Given the description of an element on the screen output the (x, y) to click on. 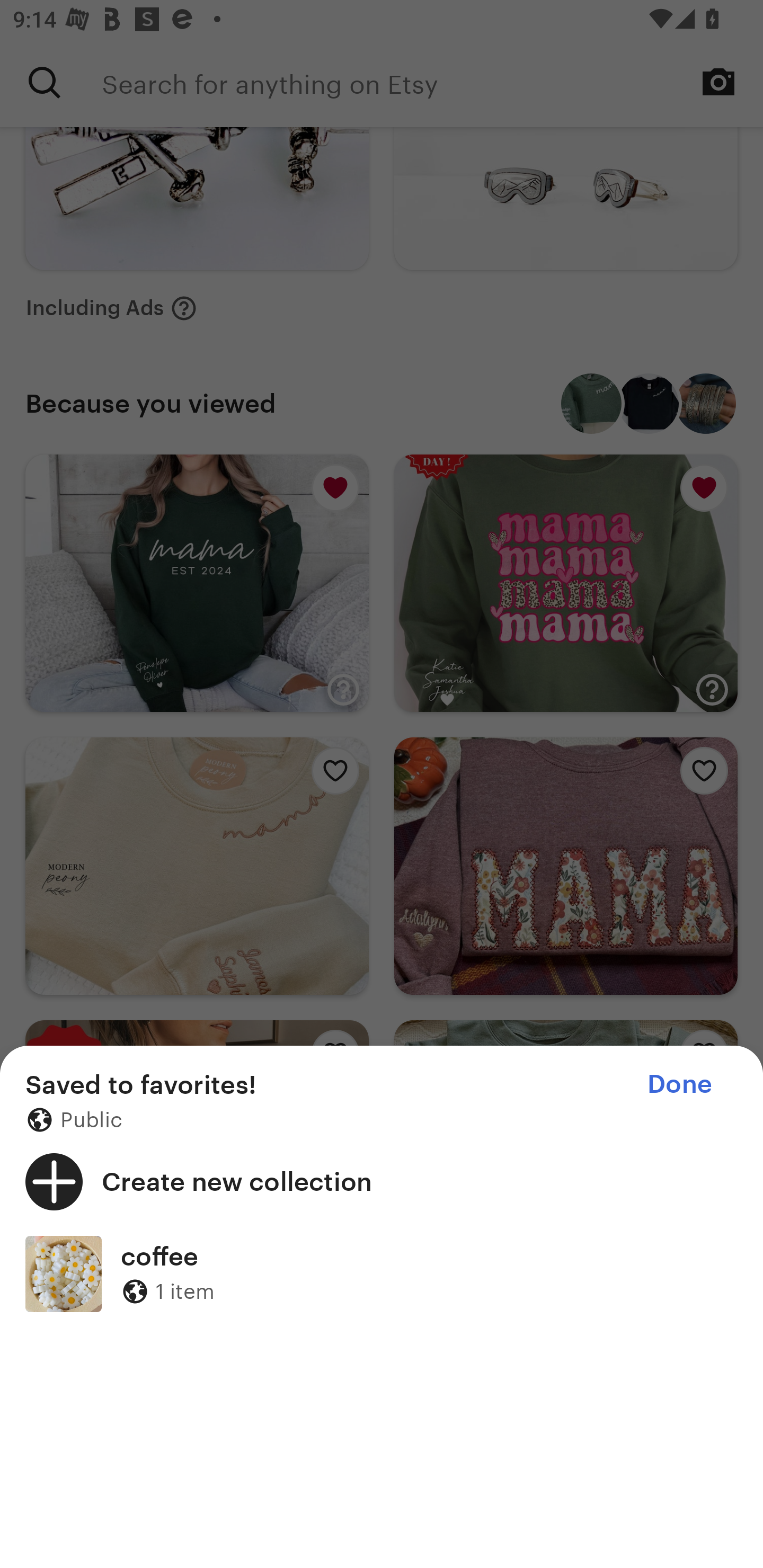
Done (679, 1083)
Create new collection (381, 1181)
coffee 1 item (381, 1273)
